Given the description of an element on the screen output the (x, y) to click on. 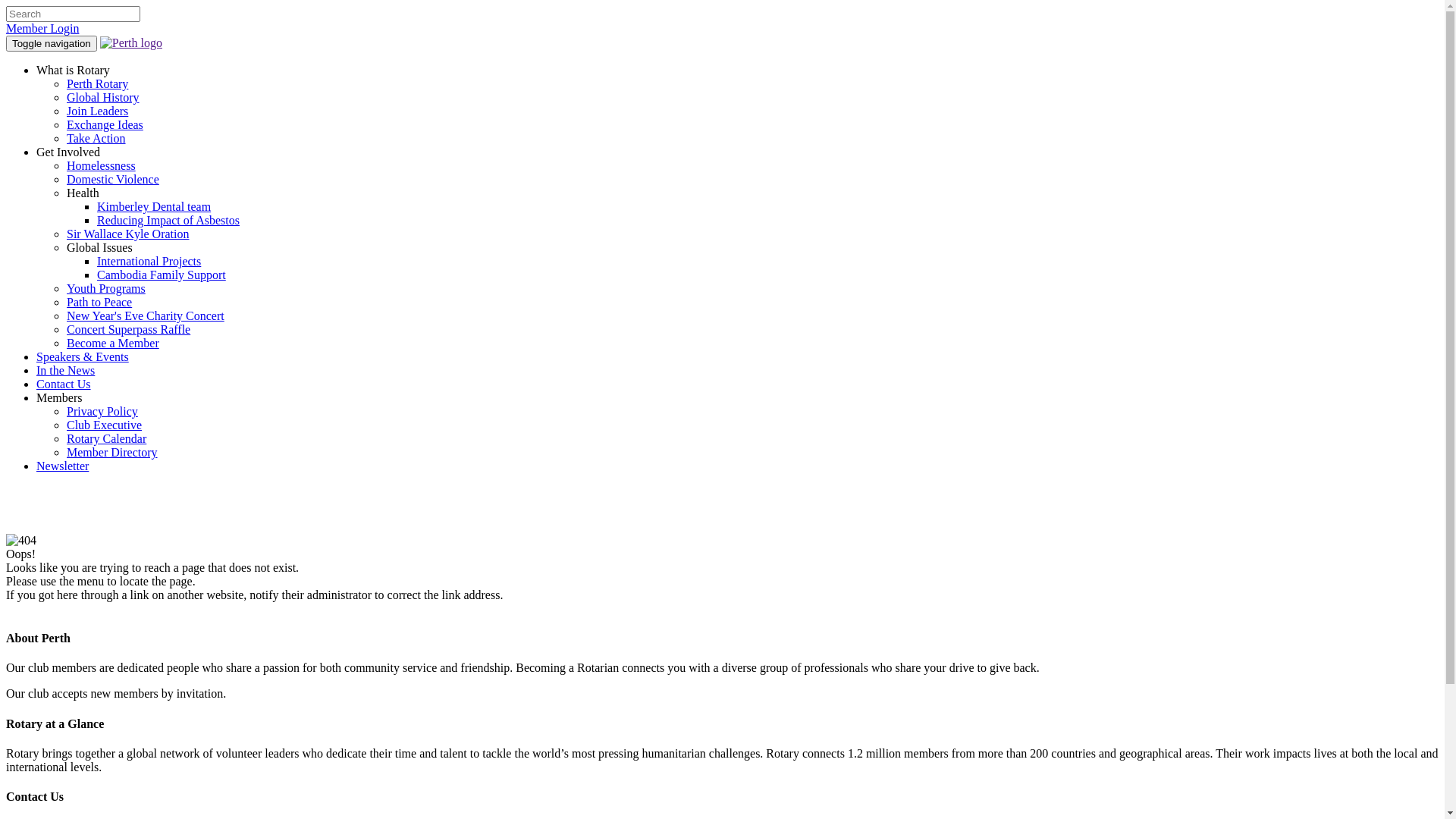
In the News Element type: text (65, 370)
Youth Programs Element type: text (105, 288)
International Projects Element type: text (148, 260)
Path to Peace Element type: text (98, 301)
Take Action Element type: text (95, 137)
Exchange Ideas Element type: text (104, 124)
What is Rotary Element type: text (72, 69)
Privacy Policy Element type: text (102, 410)
Homelessness Element type: text (100, 165)
New Year's Eve Charity Concert Element type: text (145, 315)
Club Executive Element type: text (103, 424)
Speakers & Events Element type: text (82, 356)
Become a Member Element type: text (112, 342)
Newsletter Element type: text (62, 465)
Kimberley Dental team Element type: text (153, 206)
Global Issues Element type: text (99, 247)
Reducing Impact of Asbestos Element type: text (168, 219)
Get Involved Element type: text (68, 151)
Perth Rotary Element type: text (97, 83)
Member Login Element type: text (42, 27)
Concert Superpass Raffle Element type: text (128, 329)
Cambodia Family Support Element type: text (161, 274)
Global History Element type: text (102, 97)
Contact Us Element type: text (63, 383)
Members Element type: text (58, 397)
Health Element type: text (82, 192)
Domestic Violence Element type: text (112, 178)
Join Leaders Element type: text (97, 110)
Sir Wallace Kyle Oration Element type: text (127, 233)
Rotary Calendar Element type: text (106, 438)
Toggle navigation Element type: text (51, 43)
Member Directory Element type: text (111, 451)
